Given the description of an element on the screen output the (x, y) to click on. 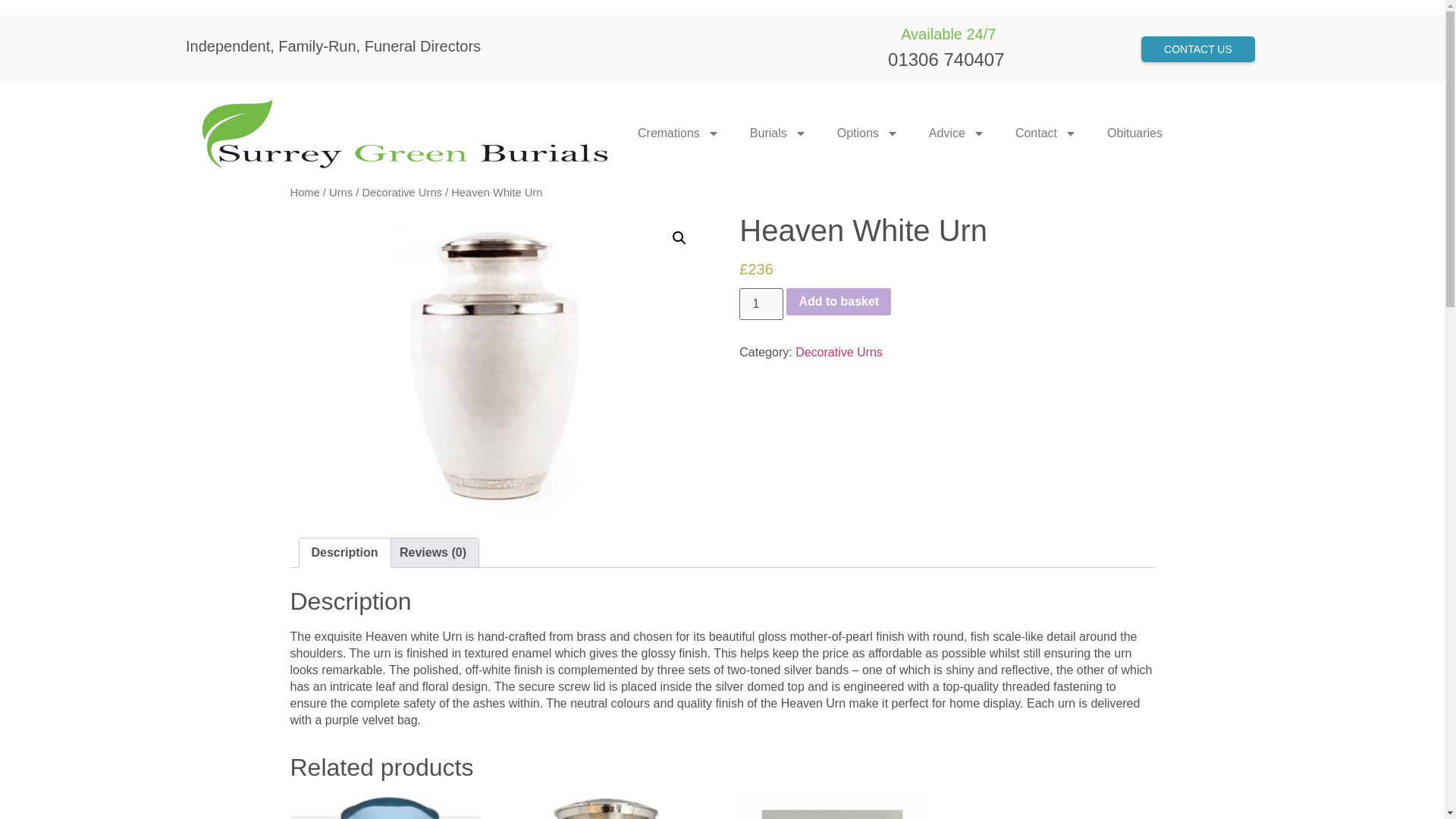
Burials (778, 133)
CONTACT US (1198, 49)
Options (868, 133)
Contact (1046, 133)
Advice (957, 133)
Obituaries (1134, 133)
Heaven White Urn (496, 362)
Cremations (679, 133)
1 (761, 304)
